Given the description of an element on the screen output the (x, y) to click on. 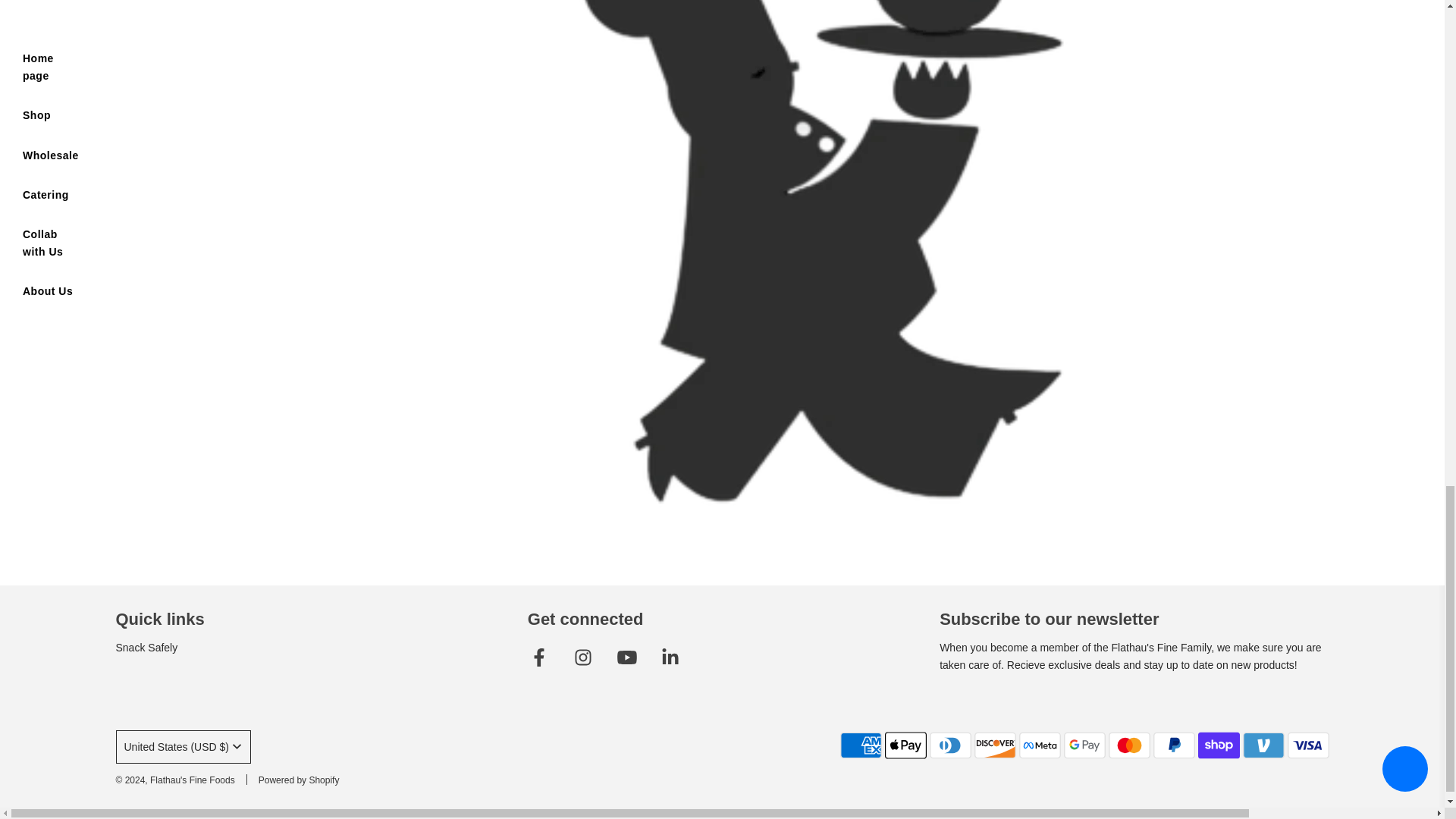
1 (796, 5)
